Given the description of an element on the screen output the (x, y) to click on. 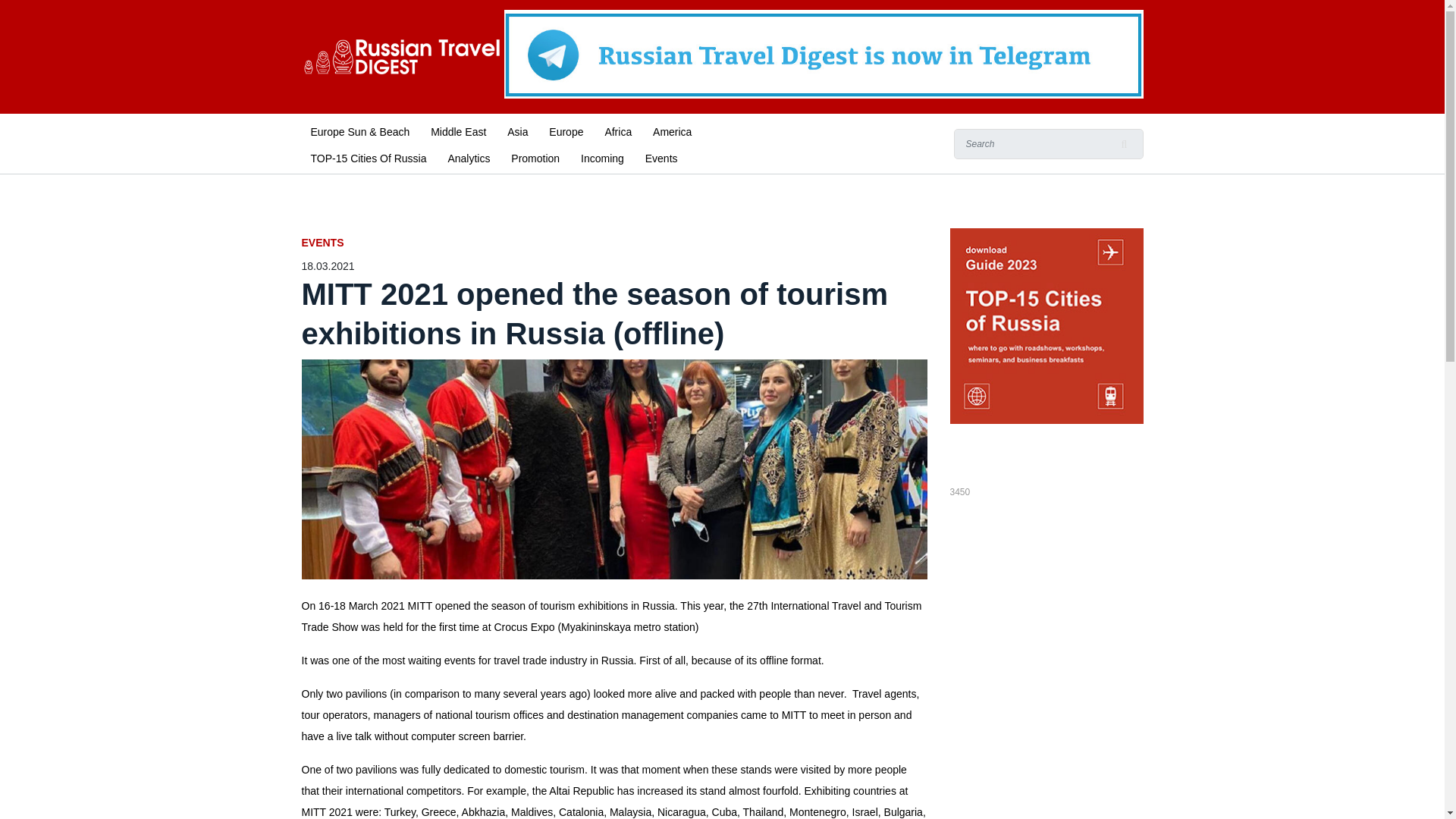
Promotion (535, 157)
TOP-15 Cities Of Russia (368, 157)
sisea.search (1123, 143)
Asia (517, 130)
Events (661, 157)
Incoming (602, 157)
America (671, 130)
Europe (566, 130)
EVENTS (614, 242)
Middle East (458, 130)
